Given the description of an element on the screen output the (x, y) to click on. 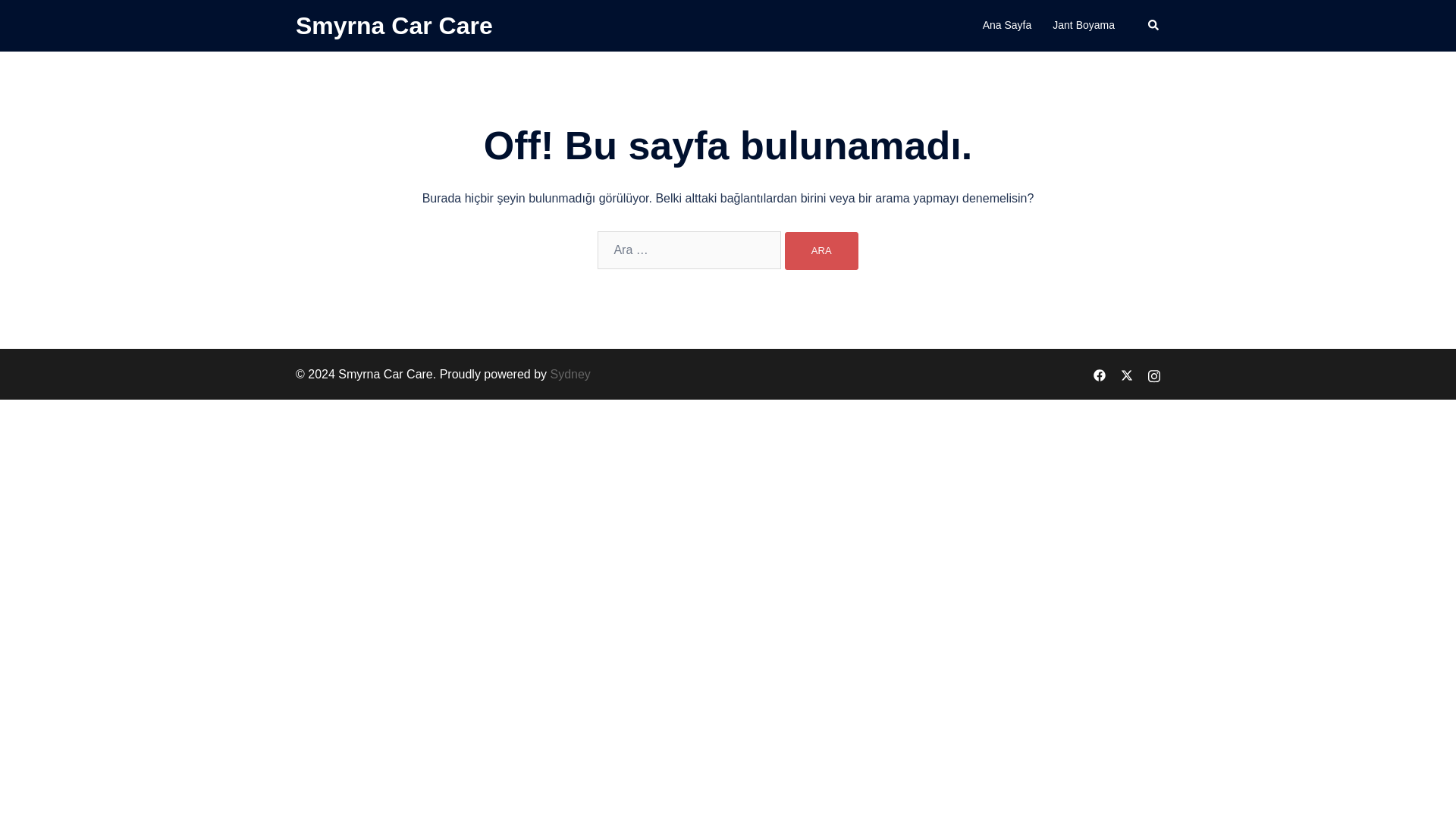
Ara (821, 250)
Search (1154, 25)
Sydney (570, 373)
Smyrna Car Care (394, 25)
Ara (821, 250)
Ana Sayfa (1007, 25)
Ara (821, 250)
Jant Boyama (1083, 25)
